Given the description of an element on the screen output the (x, y) to click on. 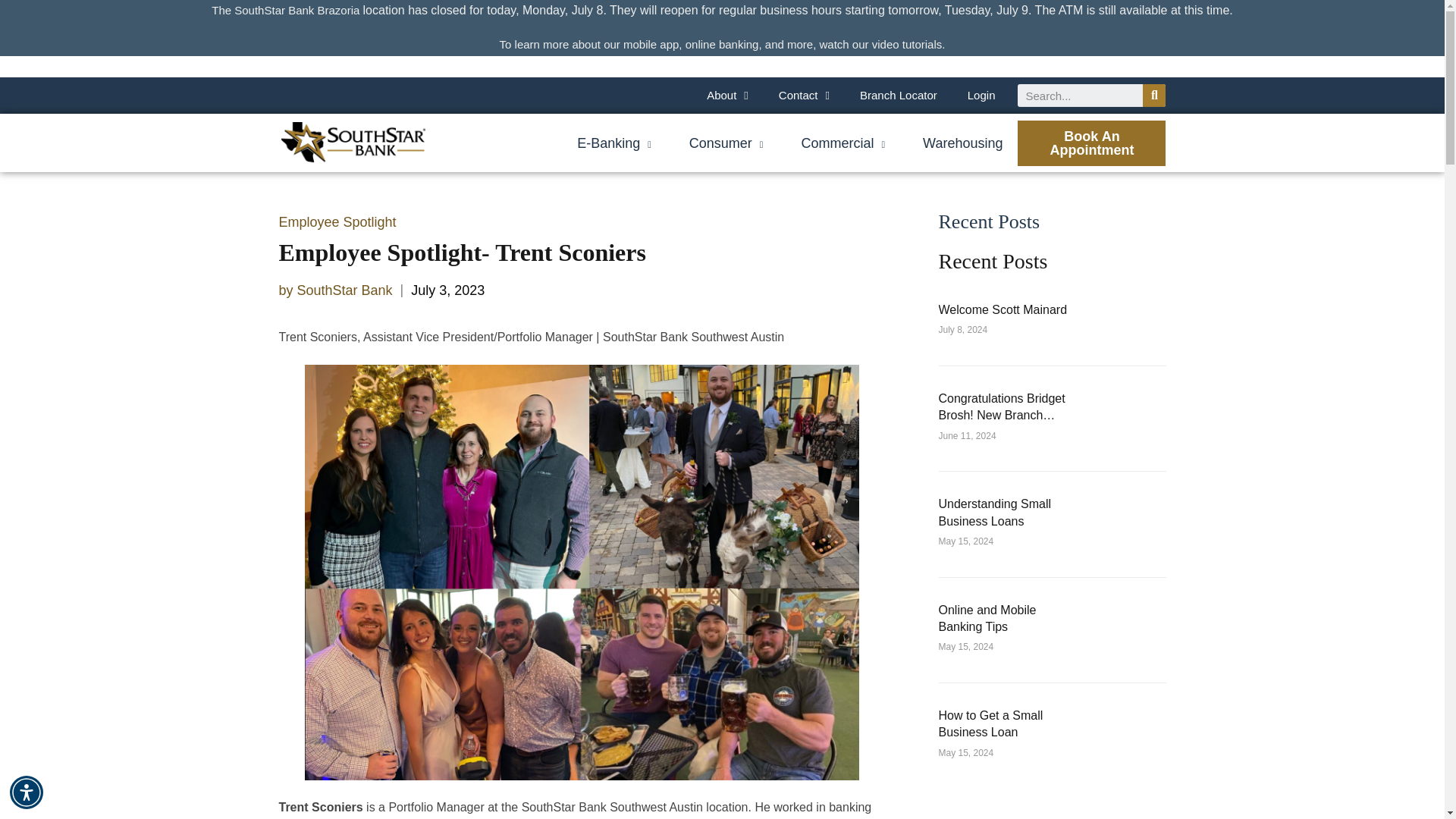
2023-07-03T09:44:18-06:00 (447, 290)
video tutorials (907, 43)
Search (1079, 95)
Branch Locator (898, 95)
E-Banking (613, 143)
Search (1154, 95)
Login (981, 95)
Accessibility Menu (26, 792)
Contact (803, 95)
Consumer (725, 143)
About (726, 95)
